Given the description of an element on the screen output the (x, y) to click on. 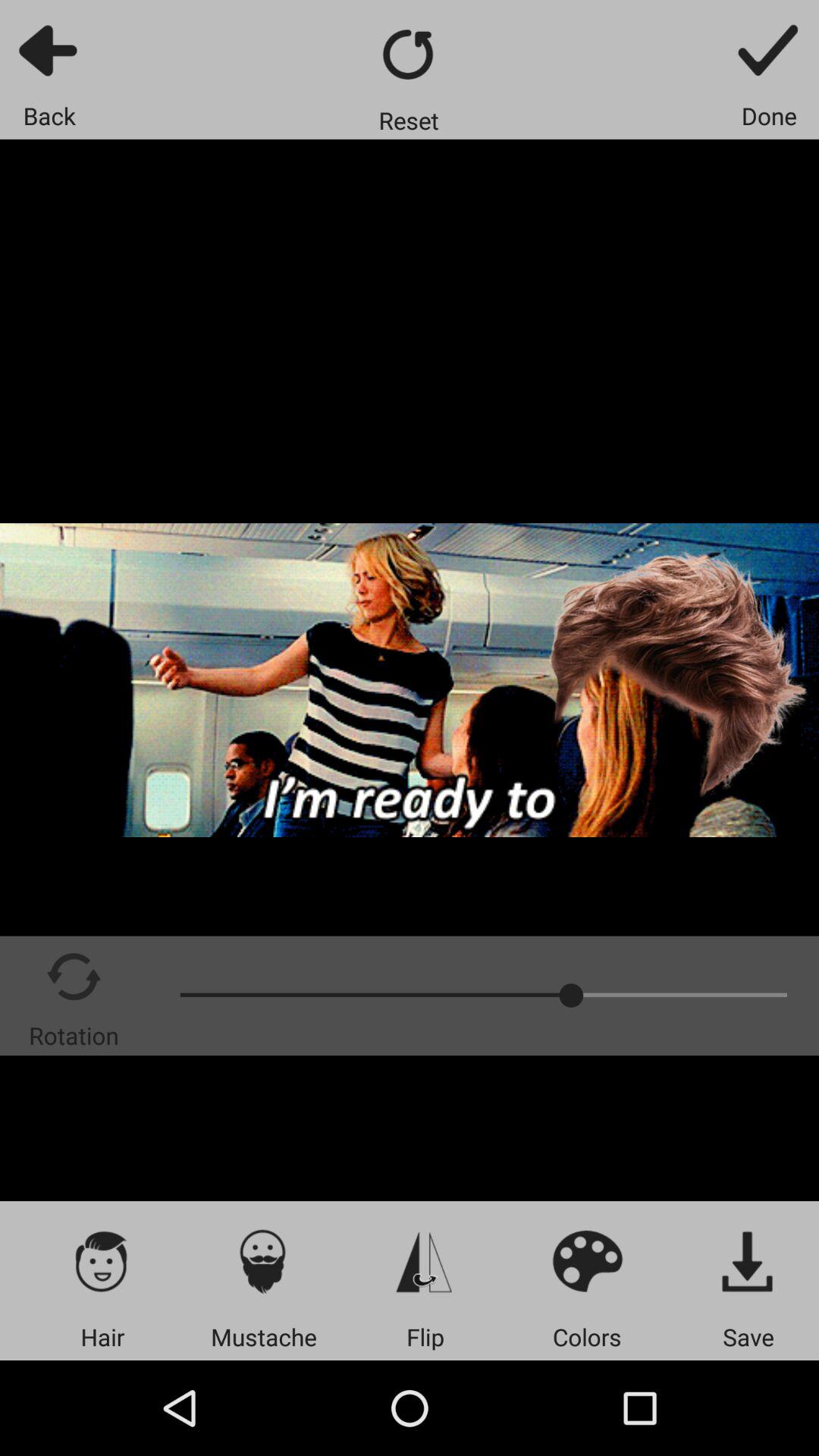
flip image (425, 1260)
